Given the description of an element on the screen output the (x, y) to click on. 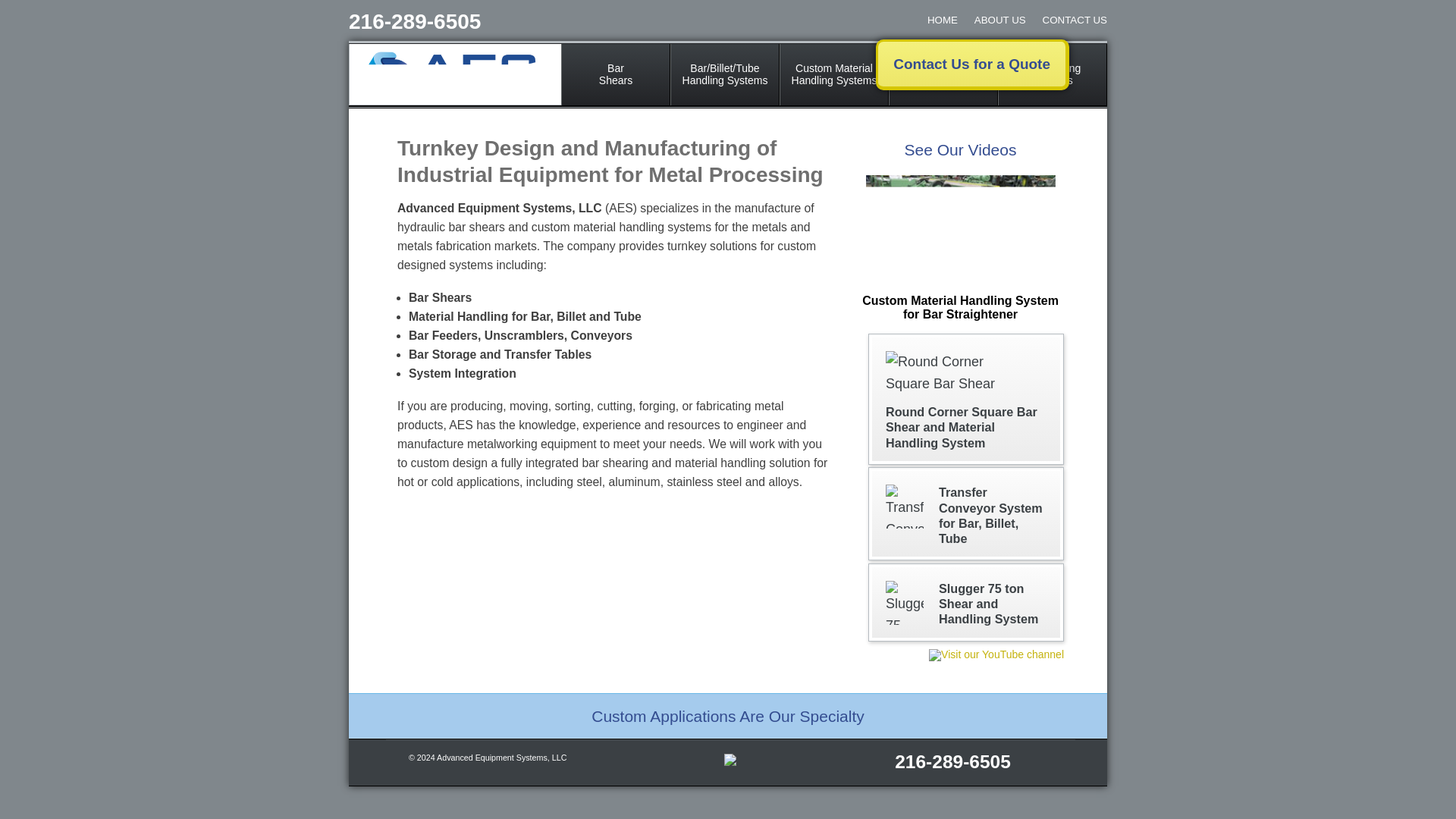
ABOUT US (993, 19)
CONTACT US (1067, 19)
Transfer Conveyor System for Bar, Billet, Tube (942, 74)
HOME (965, 513)
Contact Us for a Quote (833, 74)
Round Corner Square Bar Shear and Material Handling System (614, 74)
